Given the description of an element on the screen output the (x, y) to click on. 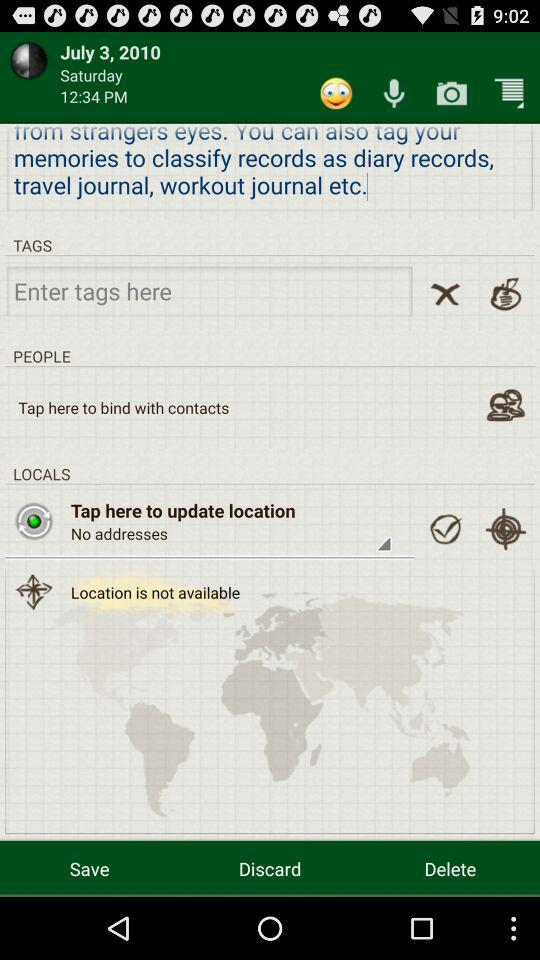
type in tags (209, 290)
